Given the description of an element on the screen output the (x, y) to click on. 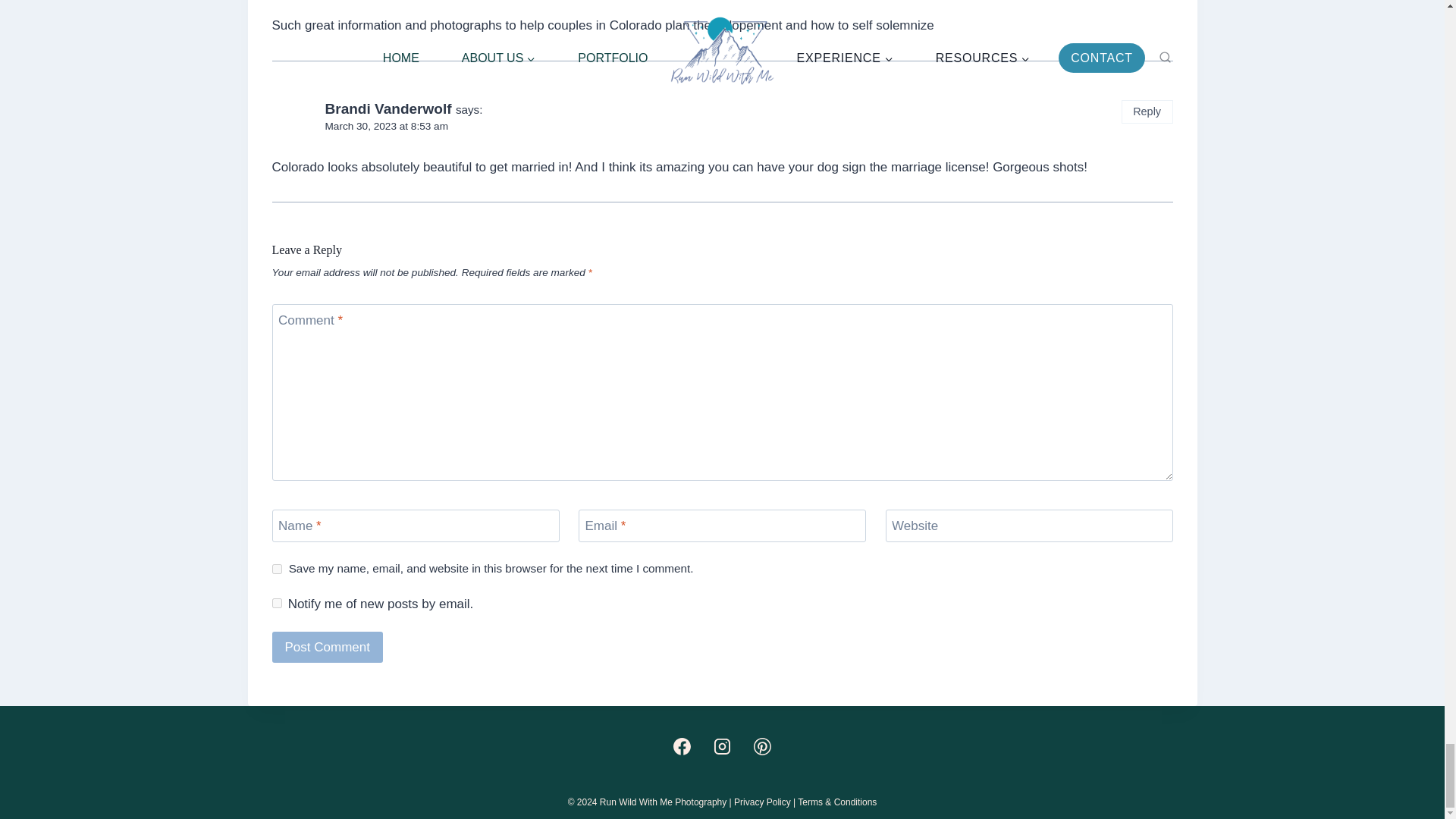
yes (275, 569)
subscribe (275, 603)
Post Comment (325, 646)
